Given the description of an element on the screen output the (x, y) to click on. 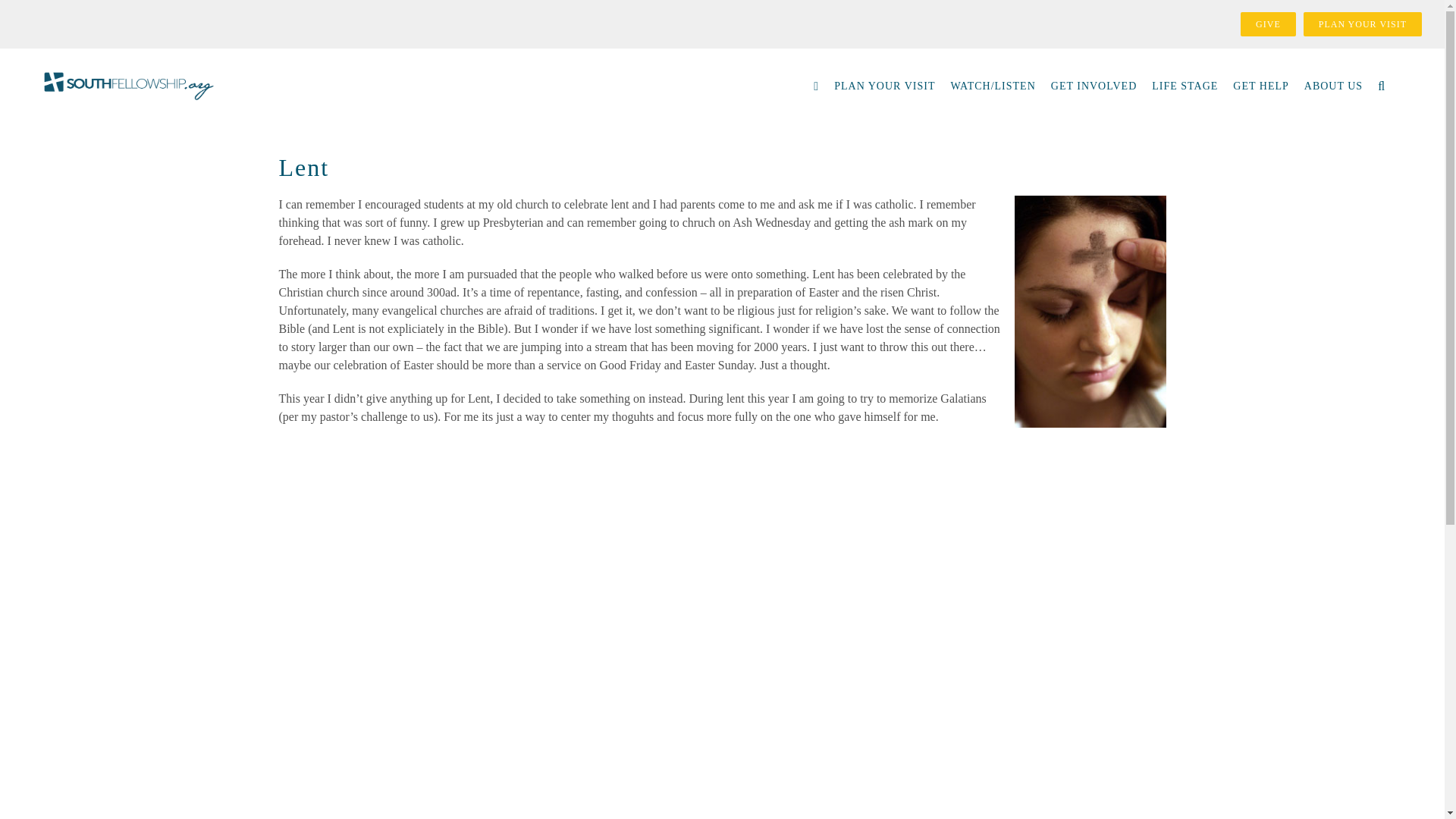
GIVE (1267, 24)
LIFE STAGE (1184, 86)
ABOUT US (1333, 86)
GET HELP (1260, 86)
PLAN YOUR VISIT (1362, 24)
PLAN YOUR VISIT (884, 86)
GET INVOLVED (1093, 86)
